Given the description of an element on the screen output the (x, y) to click on. 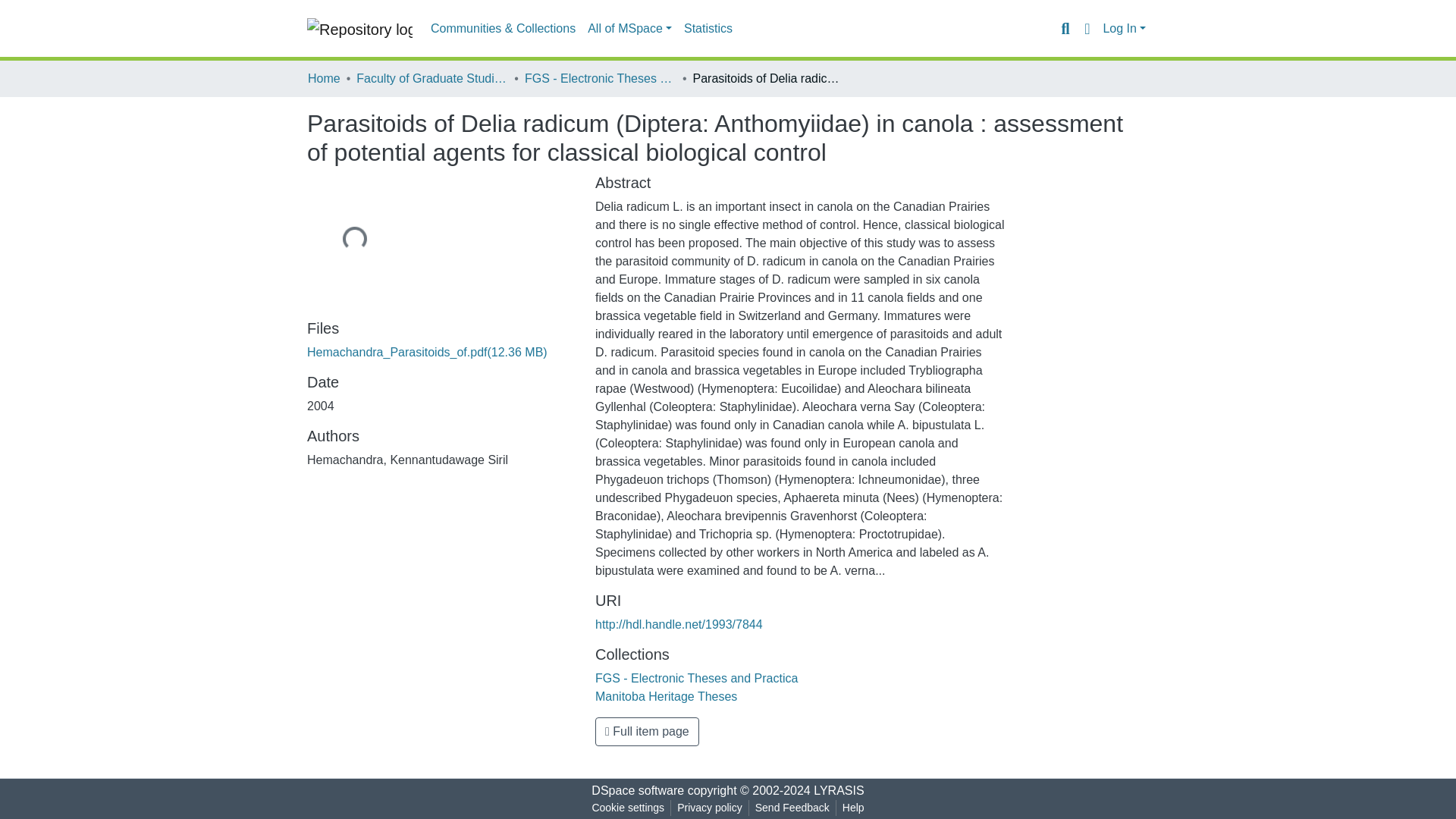
Statistics (708, 28)
Full item page (646, 731)
Privacy policy (709, 807)
Help (852, 807)
Home (323, 78)
All of MSpace (629, 28)
Cookie settings (627, 807)
FGS - Electronic Theses and Practica (696, 677)
Log In (1123, 28)
DSpace software (637, 789)
